Given the description of an element on the screen output the (x, y) to click on. 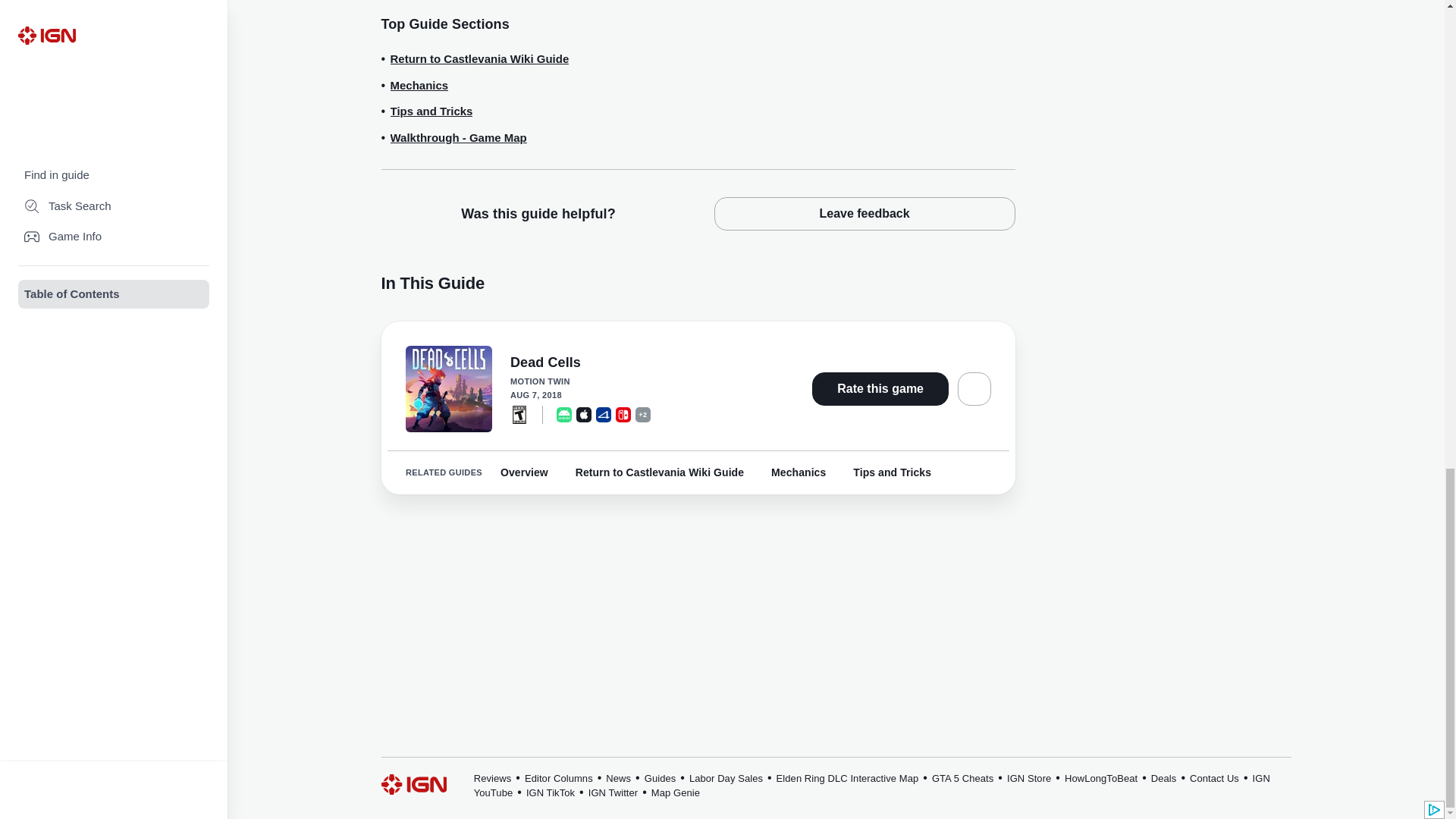
PlayStation 4 (603, 413)
Android (564, 413)
iPhone (583, 413)
Nintendo Switch (622, 413)
ESRB: Teen (518, 413)
